Given the description of an element on the screen output the (x, y) to click on. 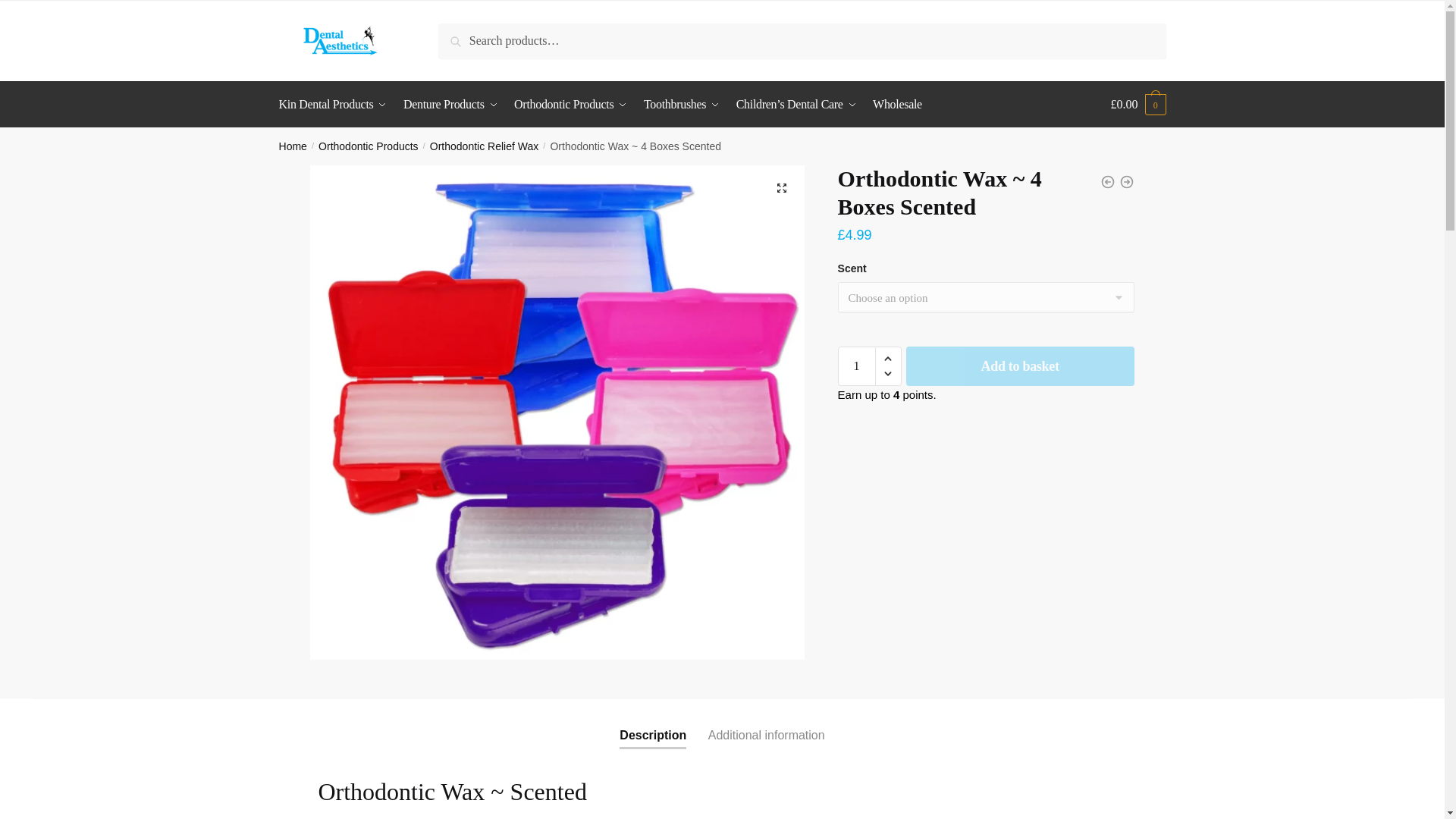
Toothbrushes (681, 104)
Kin Dental Products (336, 104)
Orthodontic Products (570, 104)
Denture Products (450, 104)
View your shopping cart (1137, 104)
1 (857, 365)
Search (473, 40)
